Given the description of an element on the screen output the (x, y) to click on. 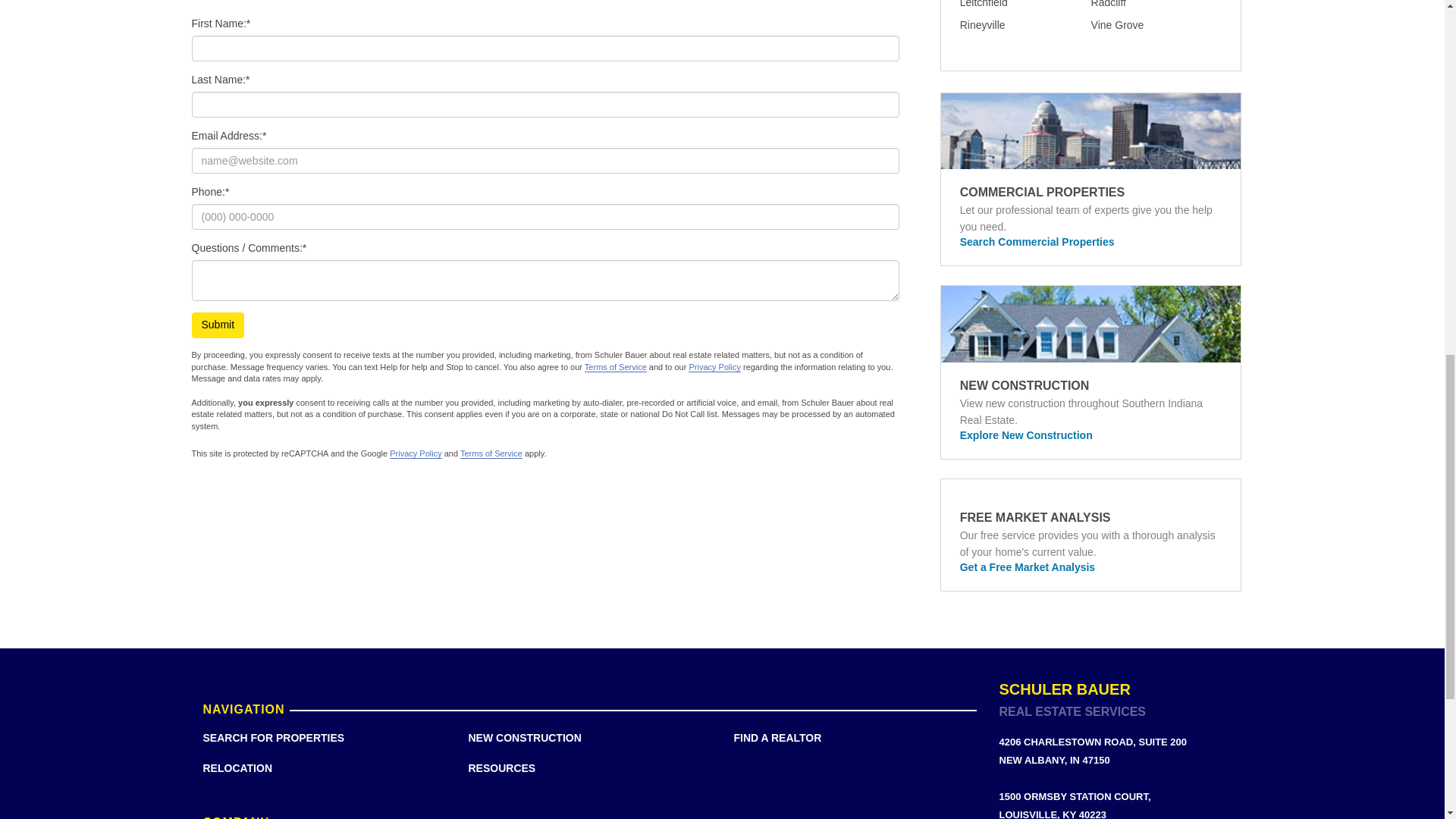
Please enter your question (544, 280)
